Given the description of an element on the screen output the (x, y) to click on. 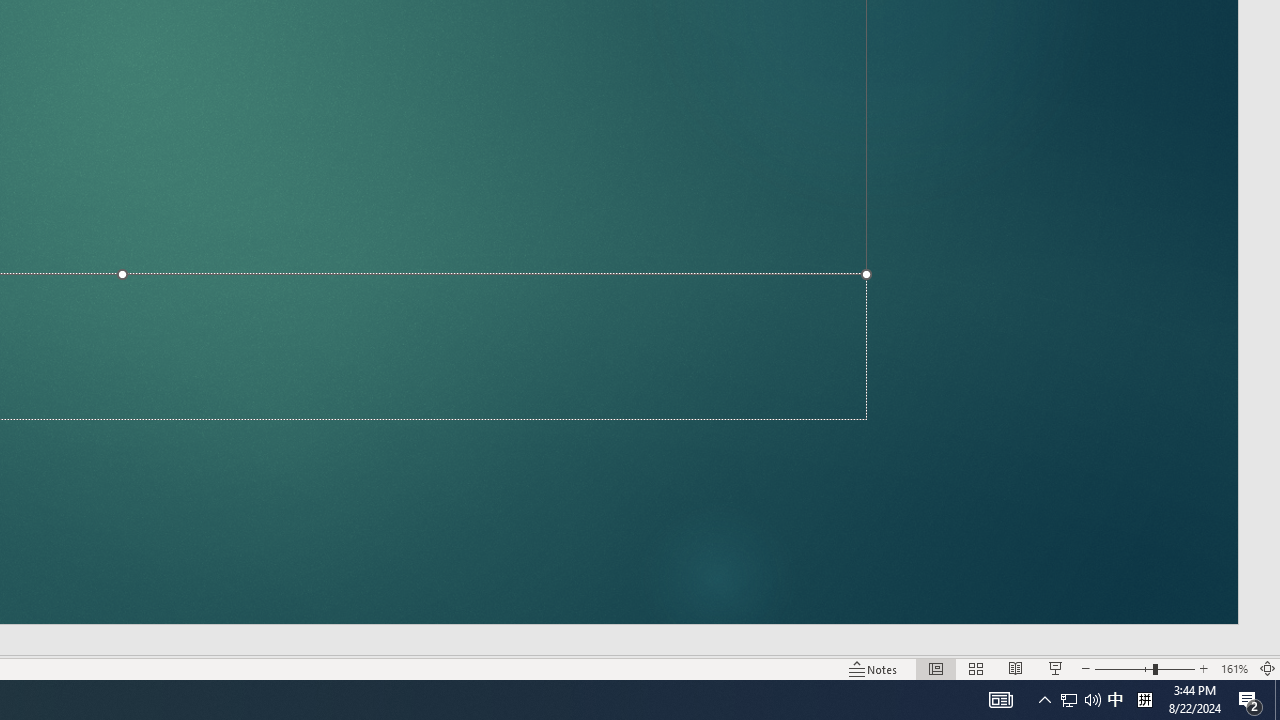
Zoom 161% (1234, 668)
